Given the description of an element on the screen output the (x, y) to click on. 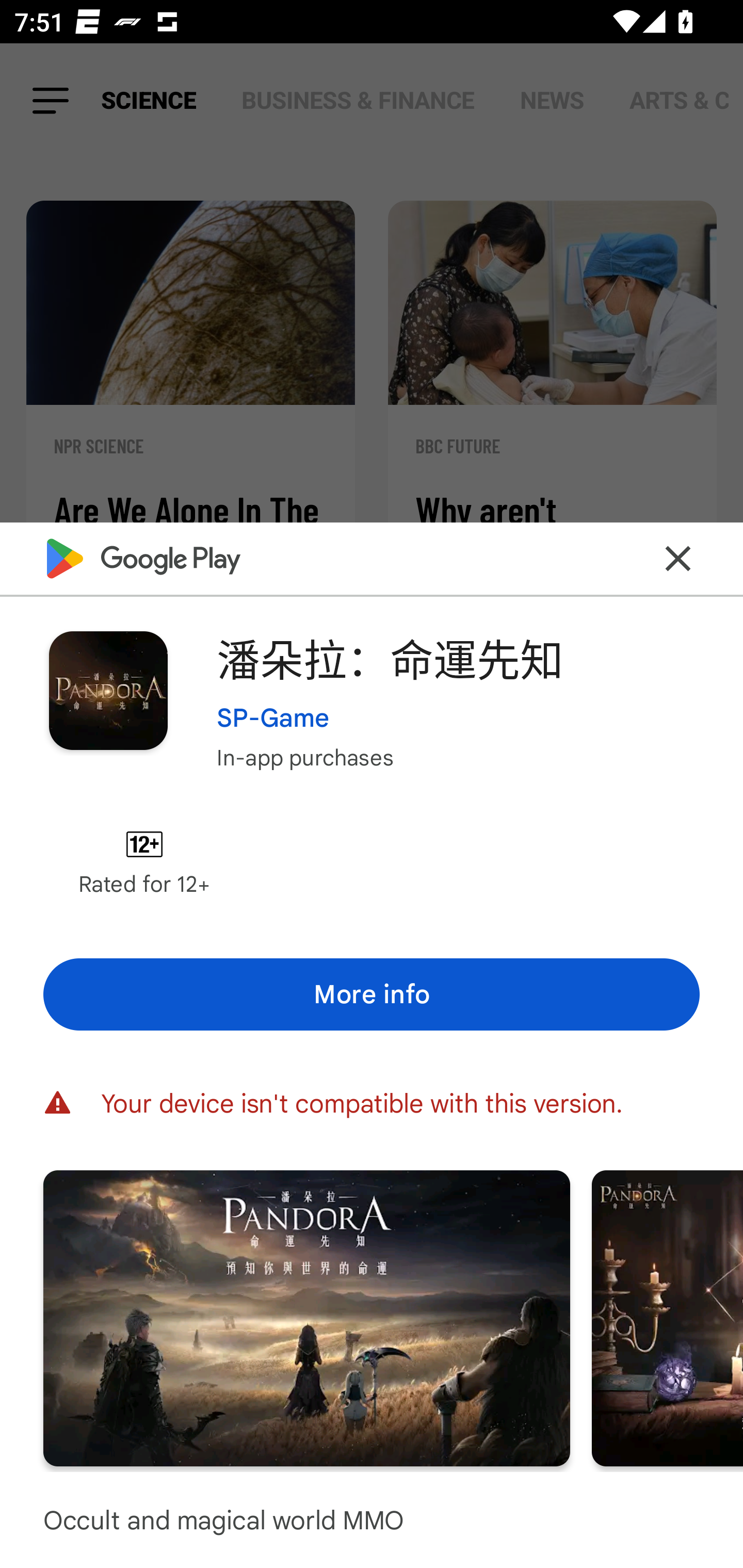
Close (677, 558)
Image of app or game icon for 潘朵拉：命運先知 (108, 690)
SP-Game (272, 716)
More info (371, 994)
Screenshot "1" of "6" (306, 1317)
